Given the description of an element on the screen output the (x, y) to click on. 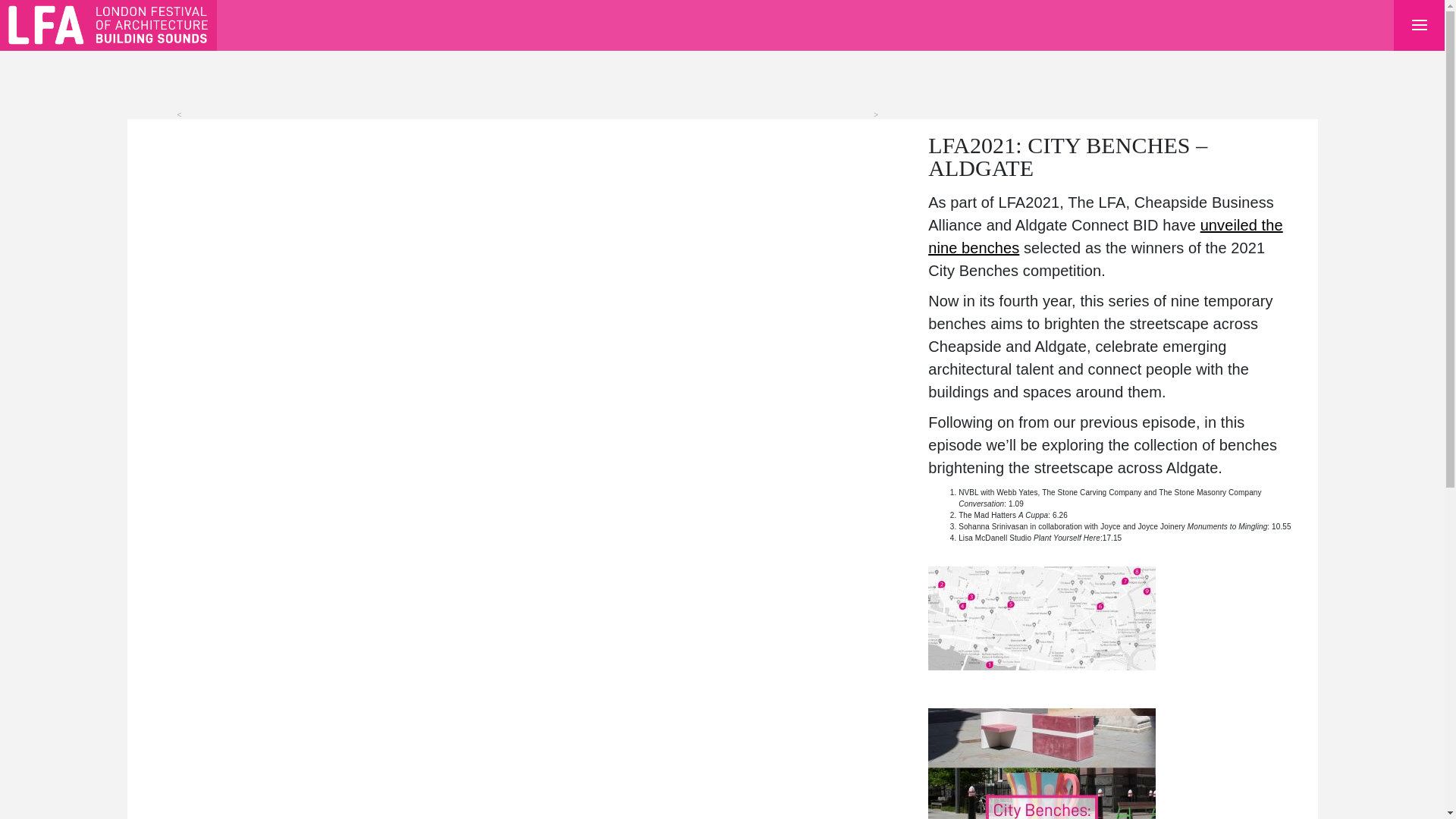
unveiled the nine benches (1105, 236)
